Given the description of an element on the screen output the (x, y) to click on. 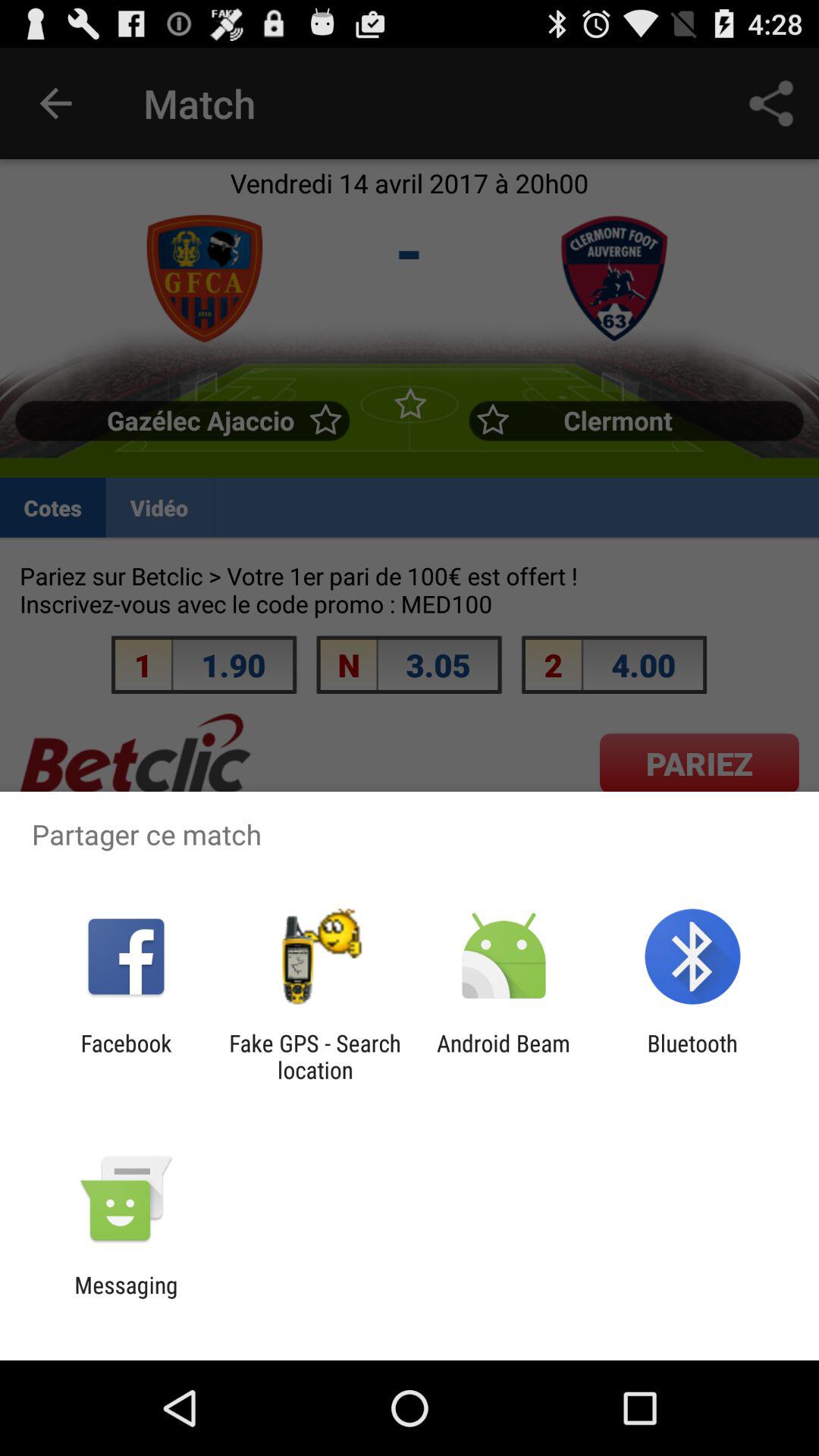
turn off item to the right of facebook item (314, 1056)
